Given the description of an element on the screen output the (x, y) to click on. 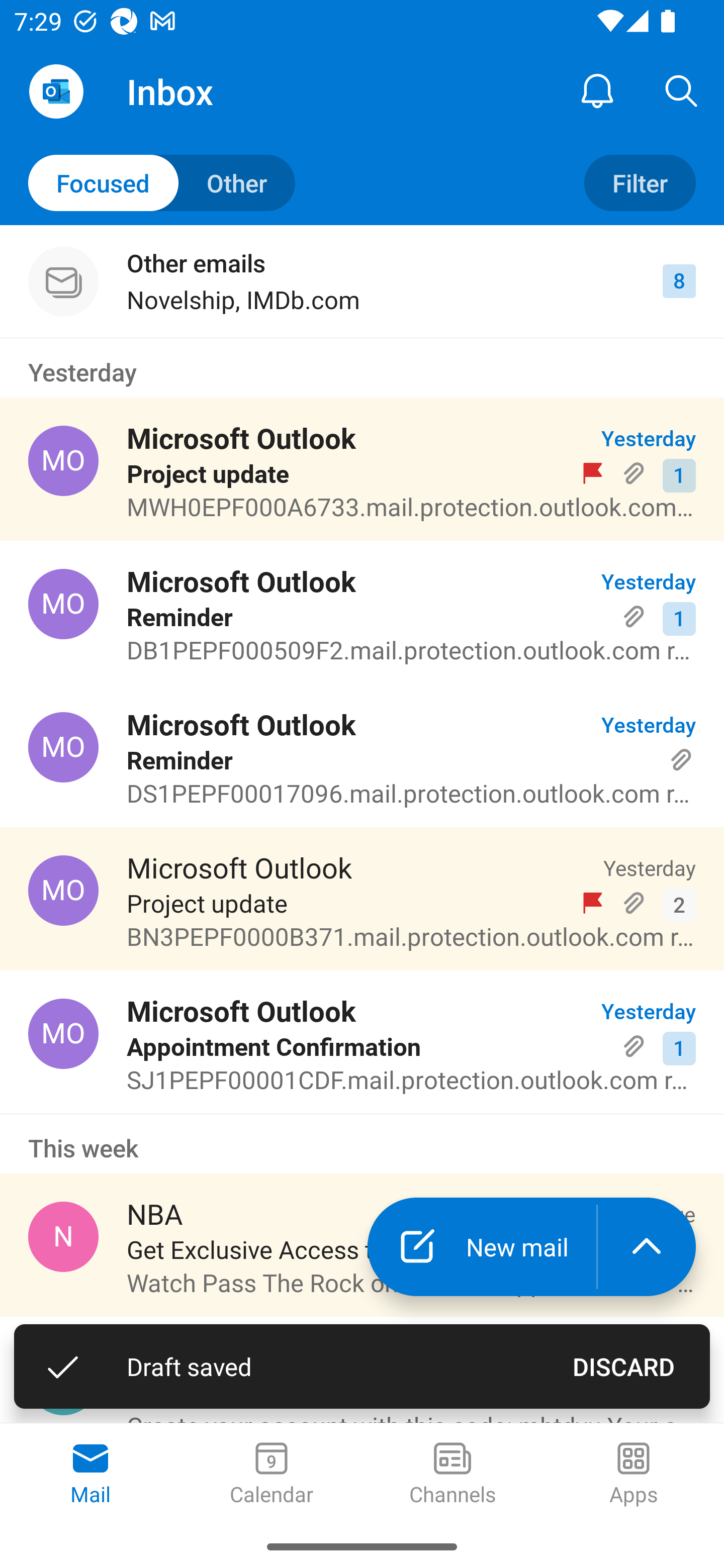
Notification Center (597, 90)
Search, ,  (681, 90)
Open Navigation Drawer (55, 91)
Toggle to other mails (161, 183)
Filter (639, 183)
Other emails Novelship, IMDb.com 8 (362, 281)
New mail (481, 1246)
launch the extended action menu (646, 1246)
NBA, NBA@email.nba.com (63, 1236)
DISCARD (623, 1366)
TicketSwap, info@ticketswap.com (63, 1380)
Calendar (271, 1474)
Channels (452, 1474)
Apps (633, 1474)
